Given the description of an element on the screen output the (x, y) to click on. 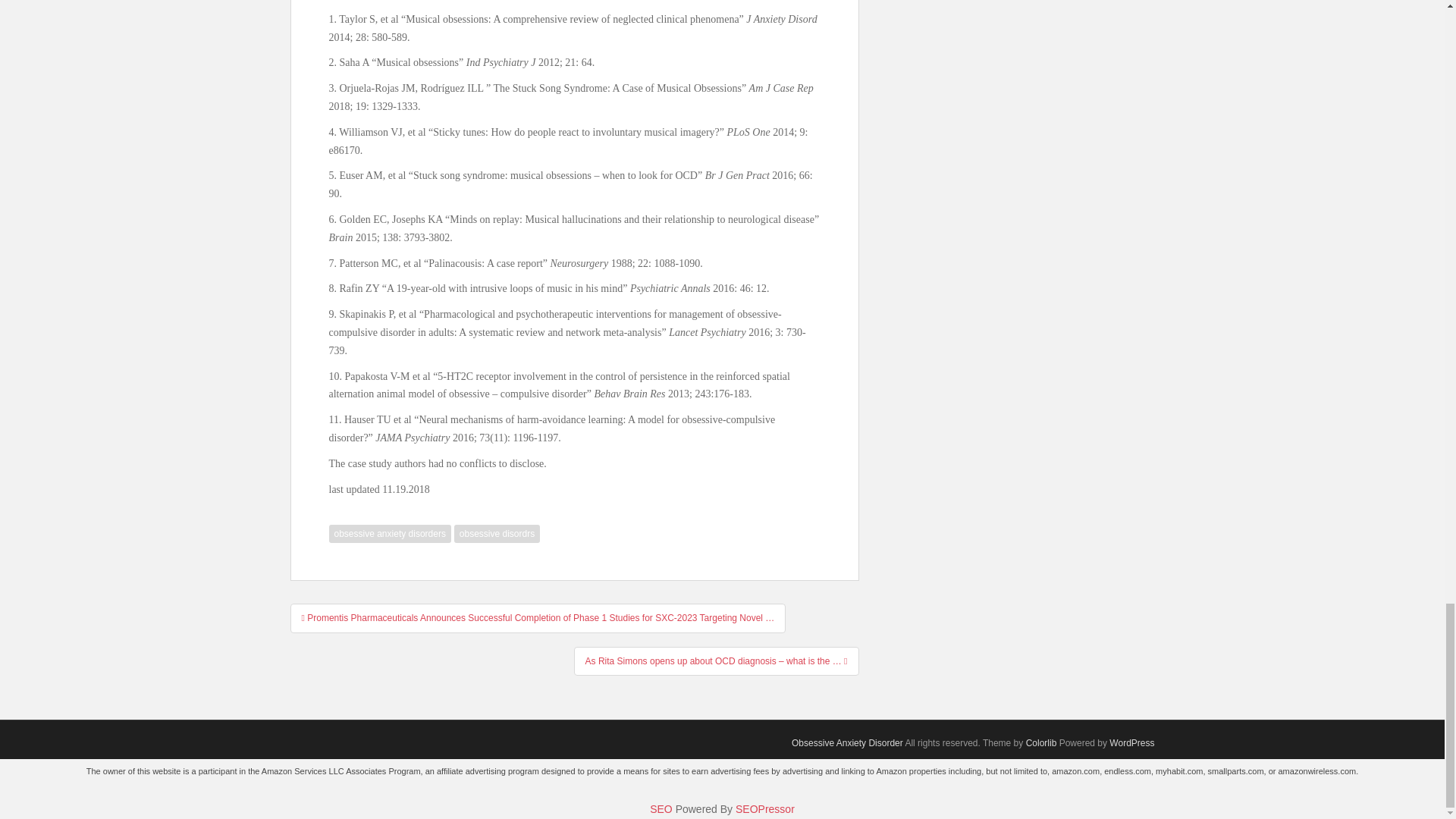
WordPress (1131, 742)
Obsessive Anxiety Disorder (847, 742)
SEO (660, 808)
Colorlib (1041, 742)
obsessive disordrs (497, 533)
SEOPressor (764, 808)
Obsessive Anxiety Disorder (847, 742)
obsessive anxiety disorders (390, 533)
